Given the description of an element on the screen output the (x, y) to click on. 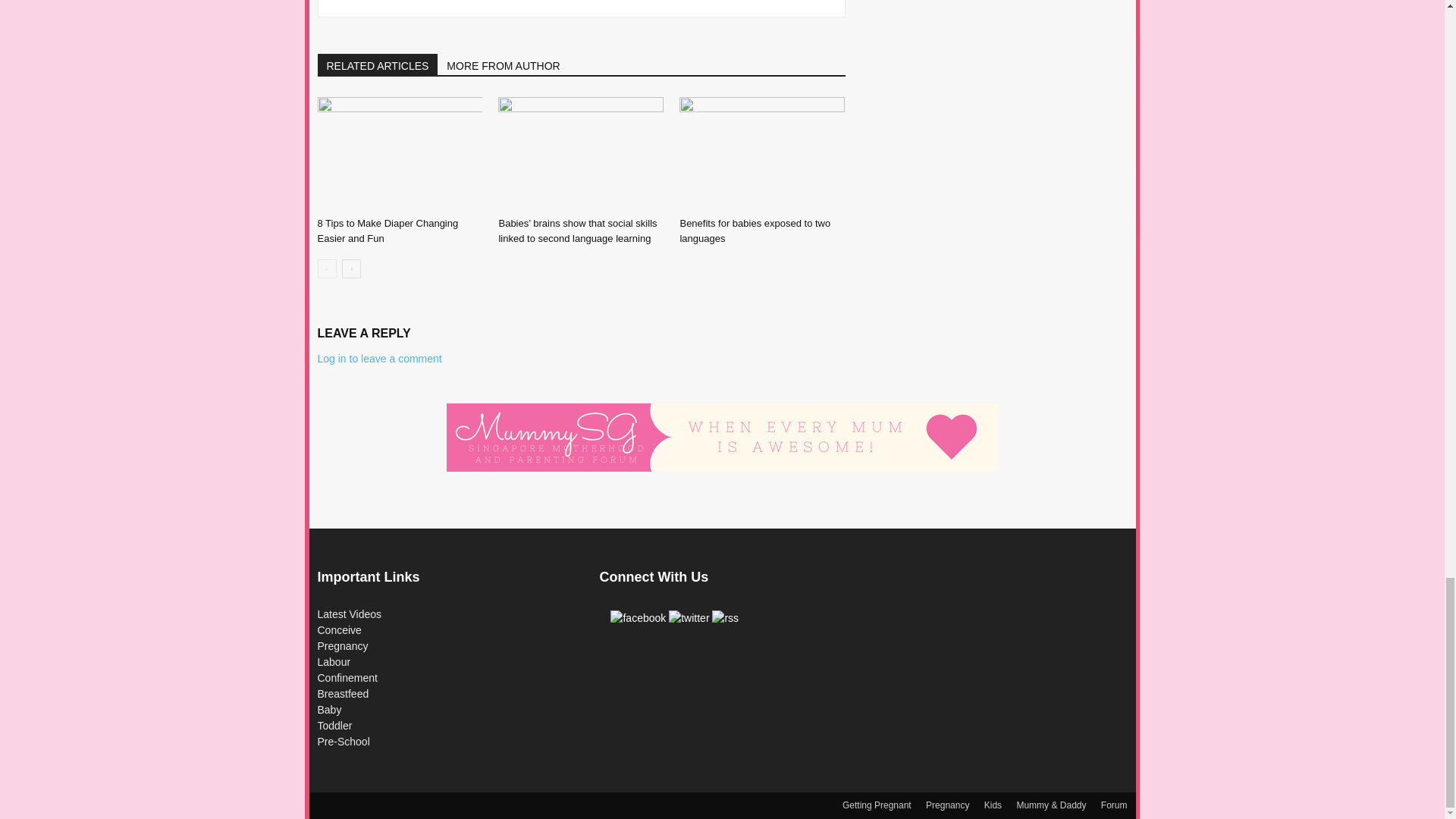
8 Tips to Make Diaper Changing Easier and Fun (399, 153)
Benefits for babies exposed to two languages (754, 230)
Benefits for babies exposed to two languages (761, 153)
8 Tips to Make Diaper Changing Easier and Fun (387, 230)
